Given the description of an element on the screen output the (x, y) to click on. 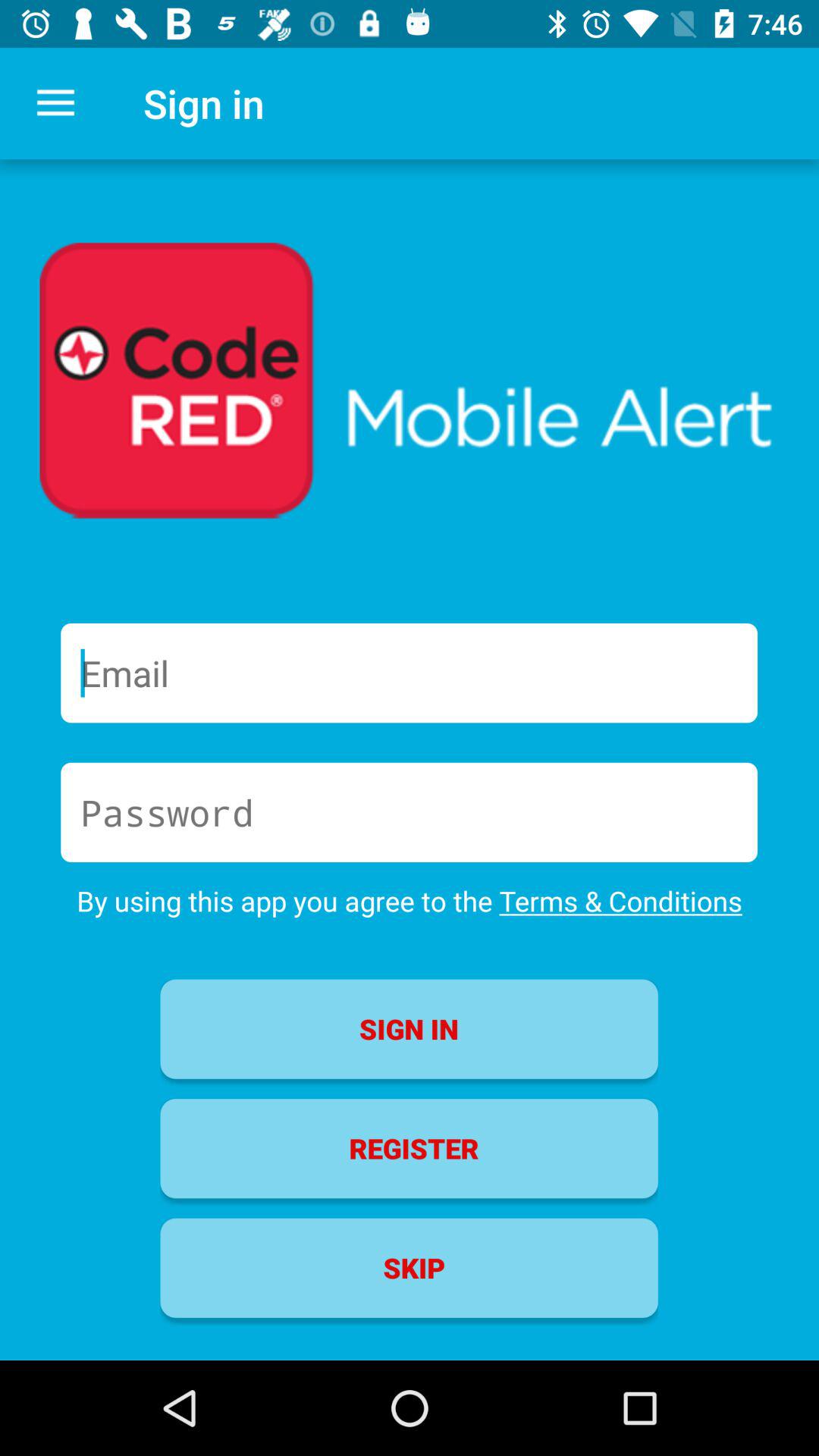
launch the icon above the sign in (409, 900)
